Given the description of an element on the screen output the (x, y) to click on. 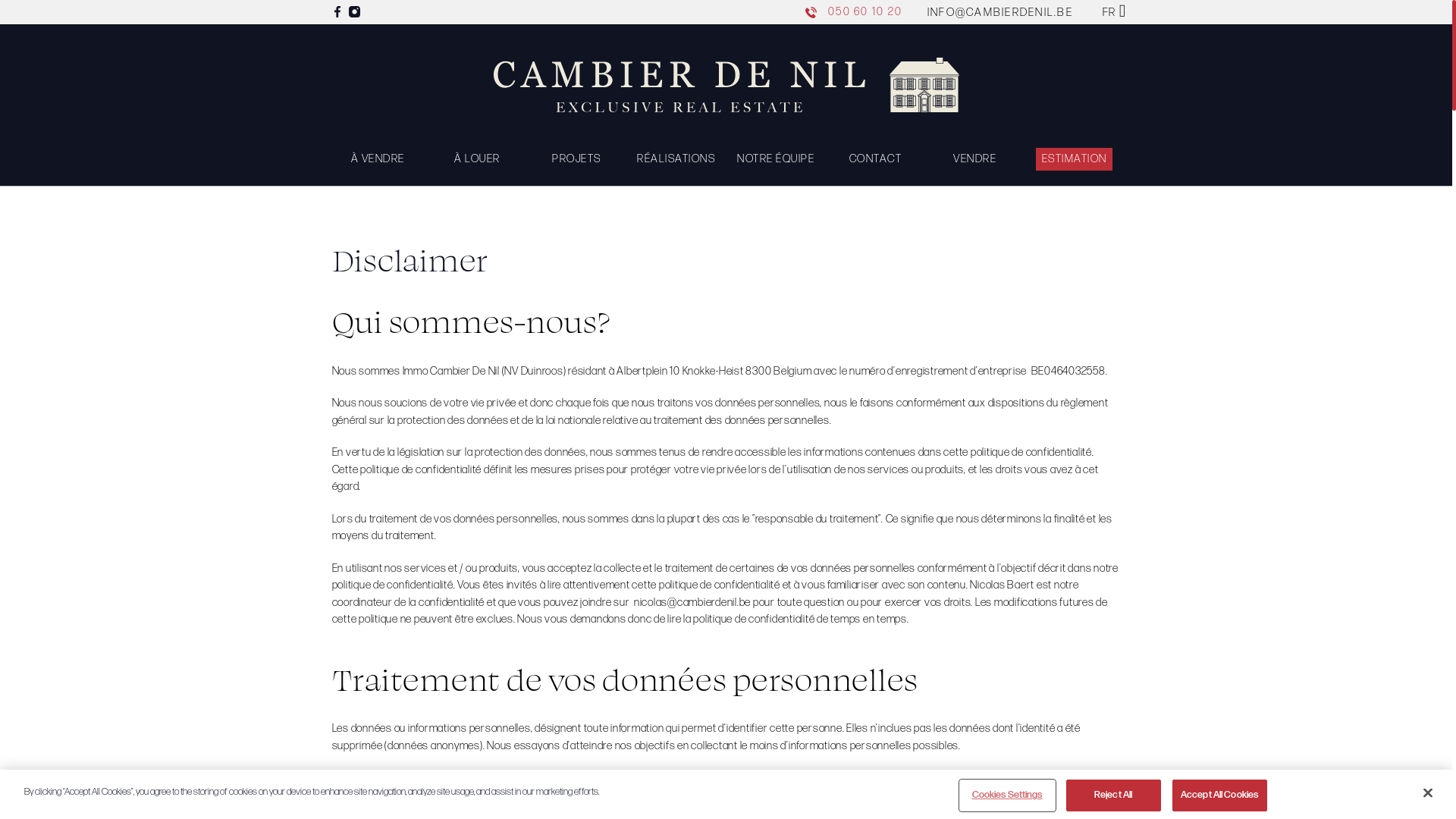
Accept All Cookies Element type: text (1219, 795)
Cookies Settings Element type: text (1007, 795)
VENDRE Element type: text (974, 158)
PROJETS Element type: text (576, 158)
INFO@CAMBIERDENIL.BE Element type: text (1000, 12)
ESTIMATION Element type: text (1074, 158)
Reject All Element type: text (1113, 795)
050 60 10 20 Element type: text (853, 12)
CONTACT Element type: text (875, 158)
